Given the description of an element on the screen output the (x, y) to click on. 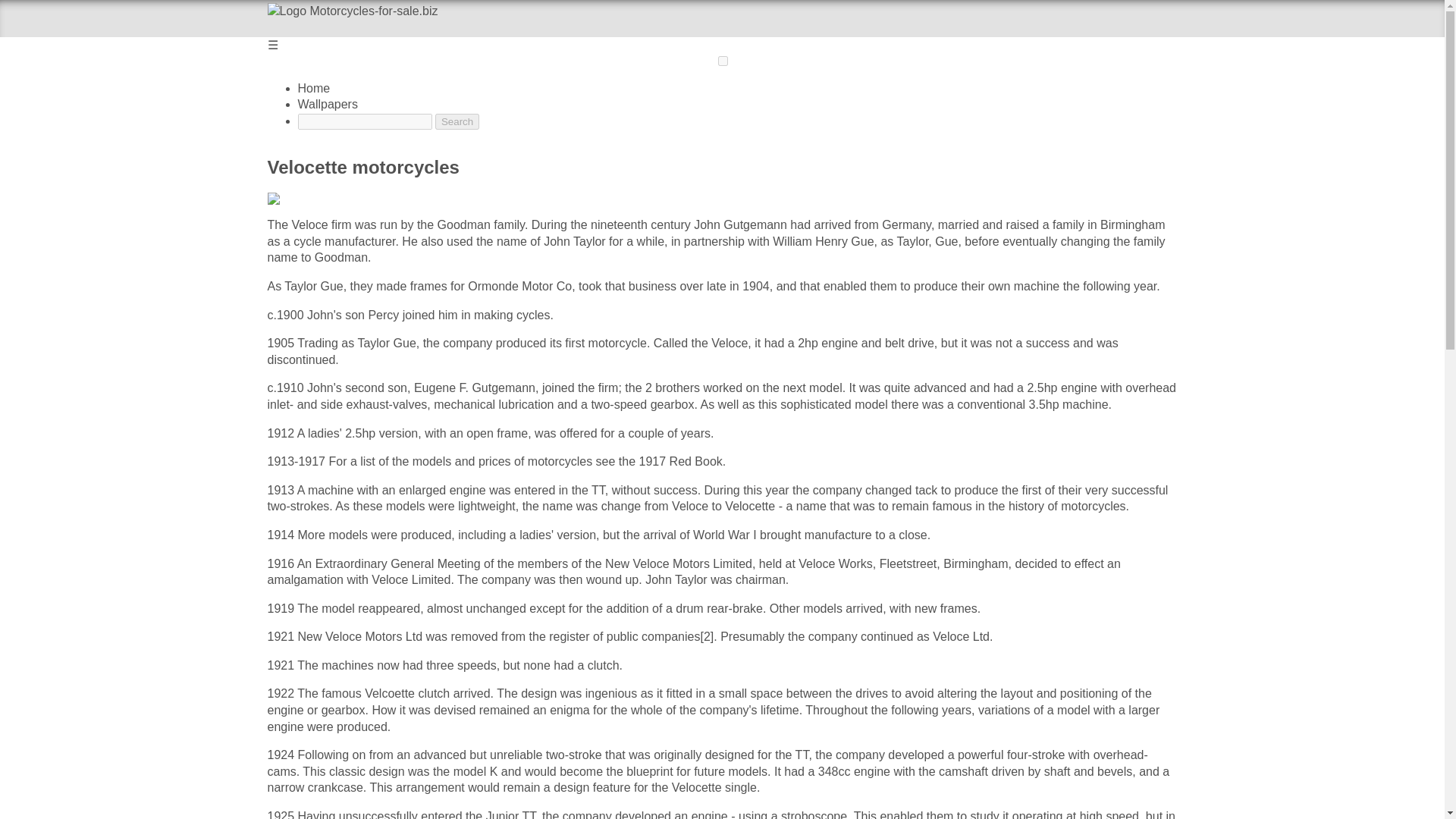
Search (457, 121)
Search (457, 121)
Wallpapers (326, 103)
For example - Ducati 1098 (363, 121)
Home (313, 88)
Motorcycles-for-sale.biz (452, 19)
